Given the description of an element on the screen output the (x, y) to click on. 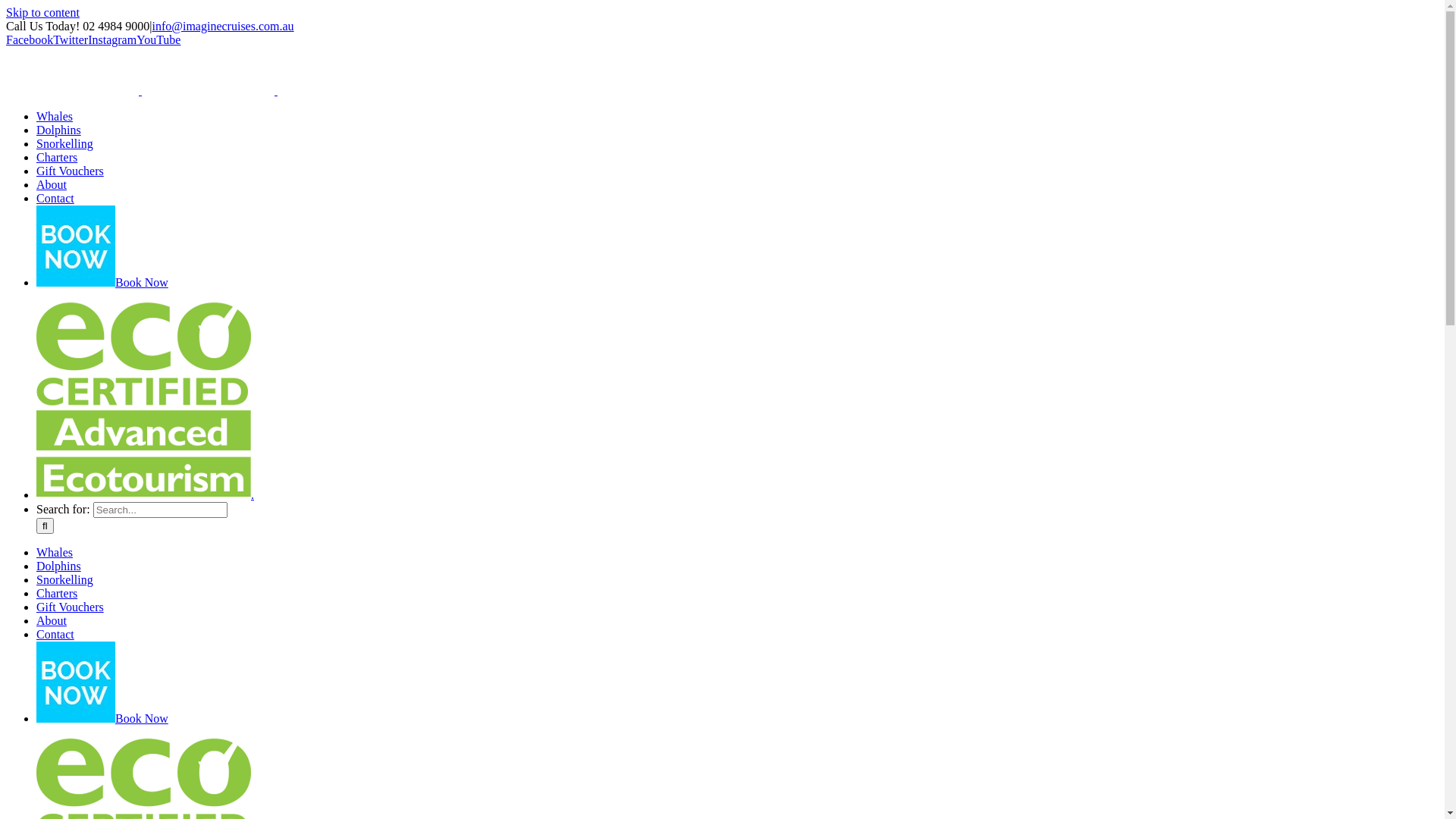
. Element type: text (145, 494)
Dolphins Element type: text (58, 129)
YouTube Element type: text (158, 39)
Gift Vouchers Element type: text (69, 606)
Contact Element type: text (55, 197)
Skip to content Element type: text (42, 12)
Charters Element type: text (56, 156)
Dolphins Element type: text (58, 565)
Book-Now-2 Element type: hover (75, 681)
info@imaginecruises.com.au Element type: text (222, 25)
Snorkelling Element type: text (64, 579)
Book Now Element type: text (102, 282)
Charters Element type: text (56, 592)
Facebook Element type: text (29, 39)
Contact Element type: text (55, 633)
Whales Element type: text (54, 552)
Twitter Element type: text (70, 39)
Book Now Element type: text (102, 718)
Book-Now-2 Element type: hover (75, 245)
Eco-Certified-Logo-green-283-x-276 Element type: hover (143, 393)
About Element type: text (51, 620)
About Element type: text (51, 184)
Snorkelling Element type: text (64, 143)
Instagram Element type: text (111, 39)
Gift Vouchers Element type: text (69, 170)
Whales Element type: text (54, 115)
